Given the description of an element on the screen output the (x, y) to click on. 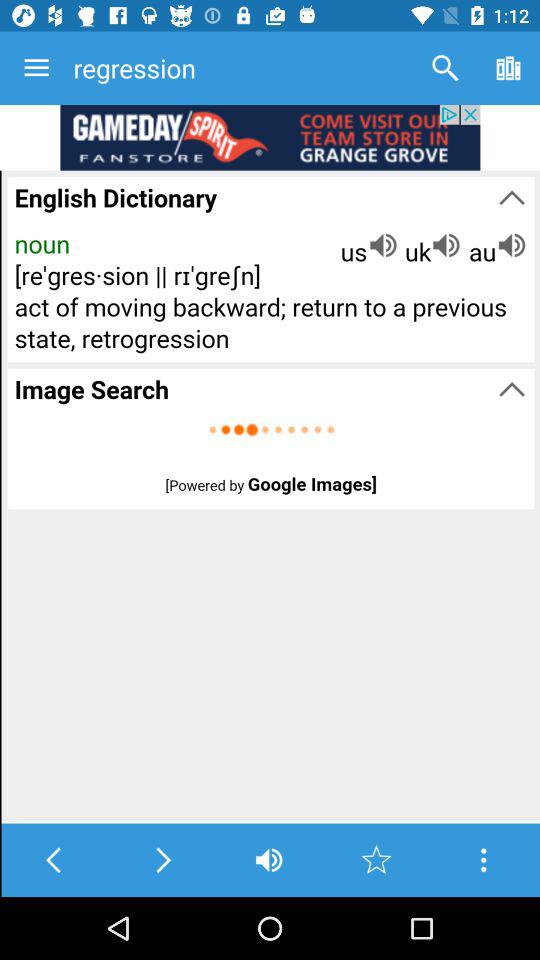
view favorite words (376, 859)
